Given the description of an element on the screen output the (x, y) to click on. 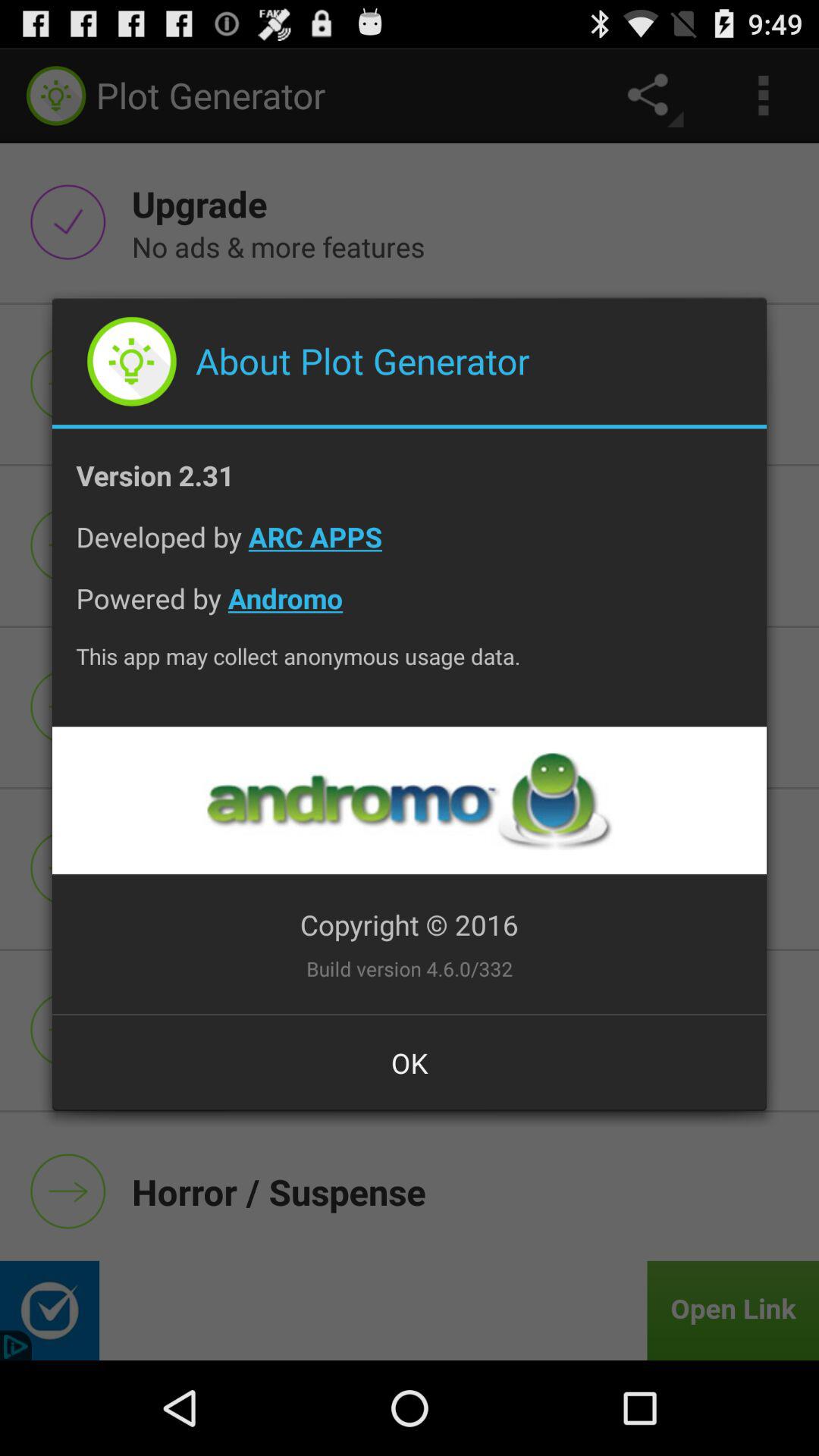
open the ok icon (409, 1062)
